Given the description of an element on the screen output the (x, y) to click on. 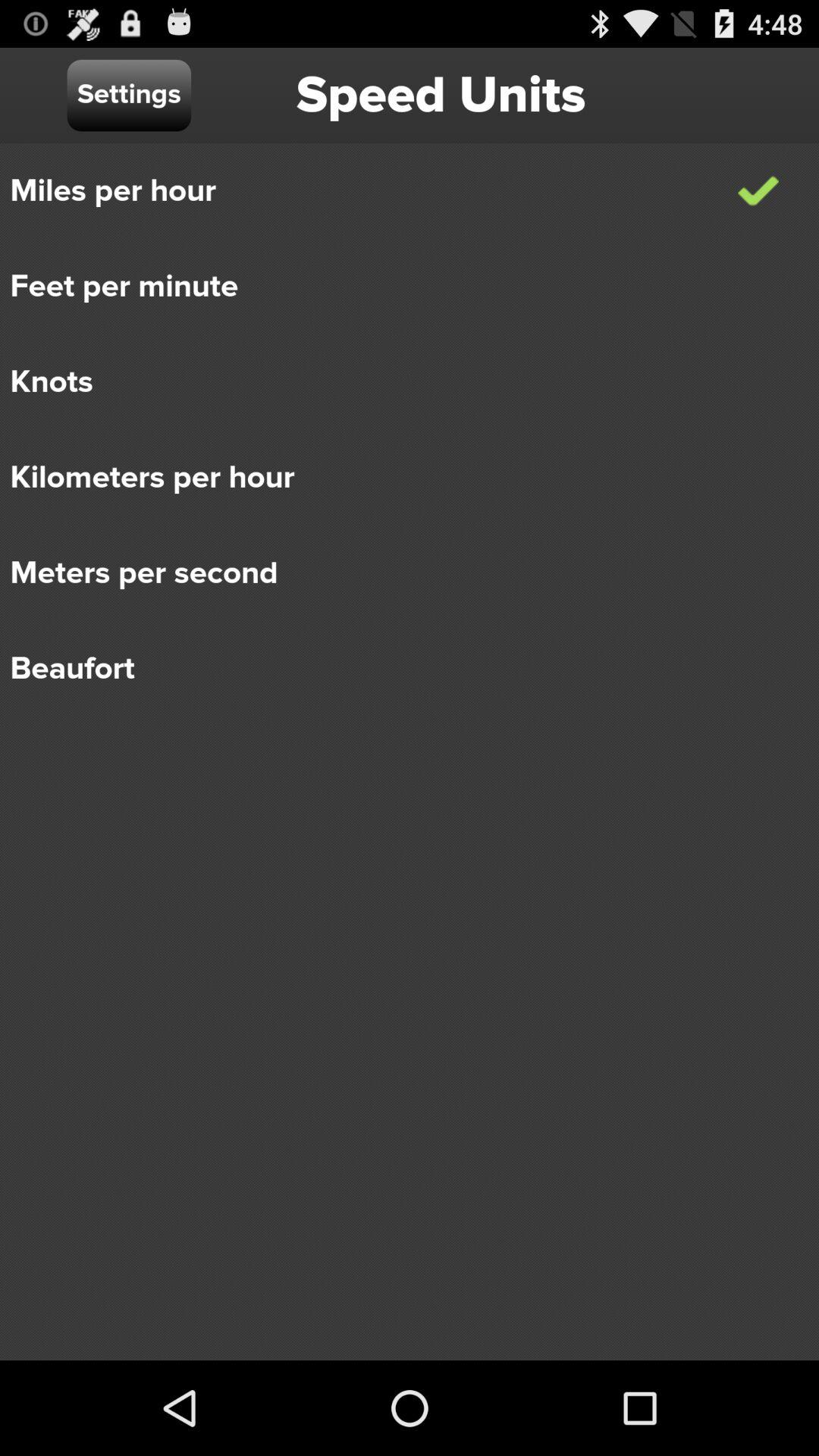
launch item below the miles per hour icon (399, 286)
